Given the description of an element on the screen output the (x, y) to click on. 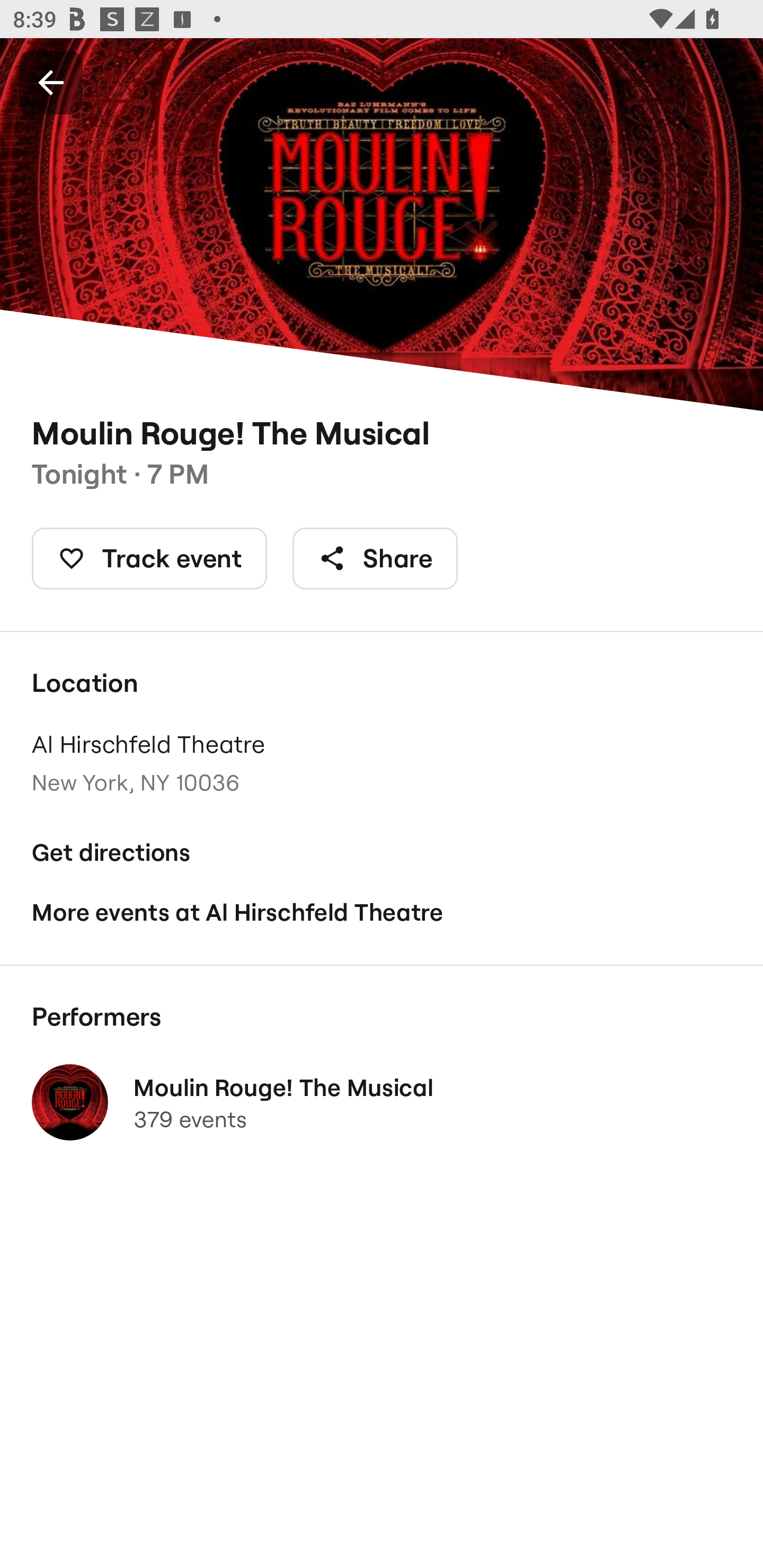
Back (50, 81)
Track event (149, 557)
Share (374, 557)
Get directions (381, 852)
More events at Al Hirschfeld Theatre (381, 912)
Moulin Rouge! The Musical 379 events (381, 1102)
